Given the description of an element on the screen output the (x, y) to click on. 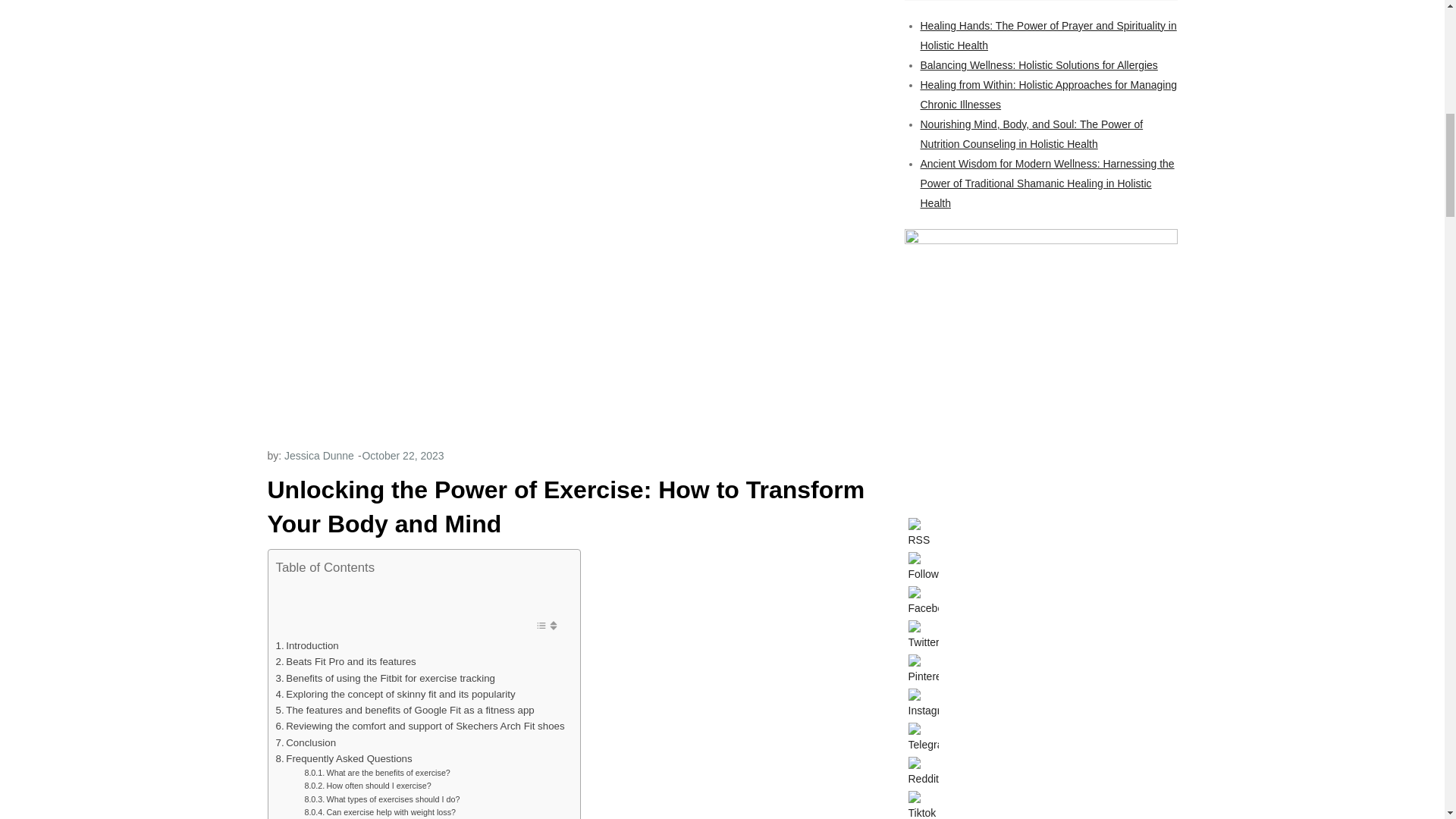
Exploring the concept of skinny fit and its popularity (395, 693)
Jessica Dunne (318, 455)
Can exercise help with weight loss? (379, 812)
What types of exercises should I do? (382, 799)
Reviewing the comfort and support of Skechers Arch Fit shoes (420, 725)
Beats Fit Pro and its features (346, 661)
The features and benefits of Google Fit as a fitness app (405, 709)
What types of exercises should I do? (382, 799)
Conclusion (306, 742)
